Given the description of an element on the screen output the (x, y) to click on. 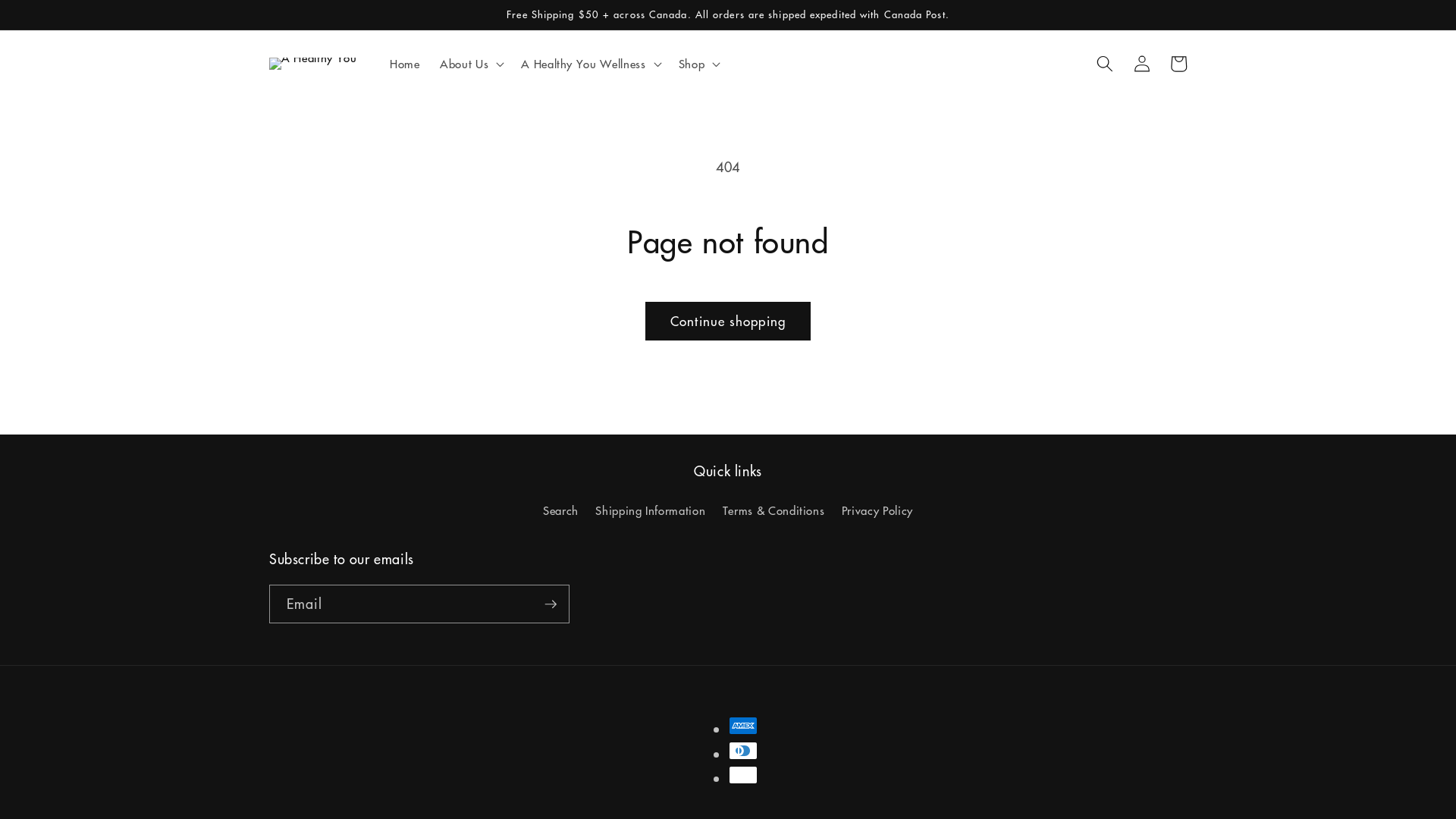
Terms & Conditions Element type: text (773, 510)
Home Element type: text (404, 63)
Cart Element type: text (1178, 63)
Log in Element type: text (1141, 63)
Shipping Information Element type: text (650, 510)
Continue shopping Element type: text (727, 321)
Privacy Policy Element type: text (877, 510)
Search Element type: text (560, 512)
